Given the description of an element on the screen output the (x, y) to click on. 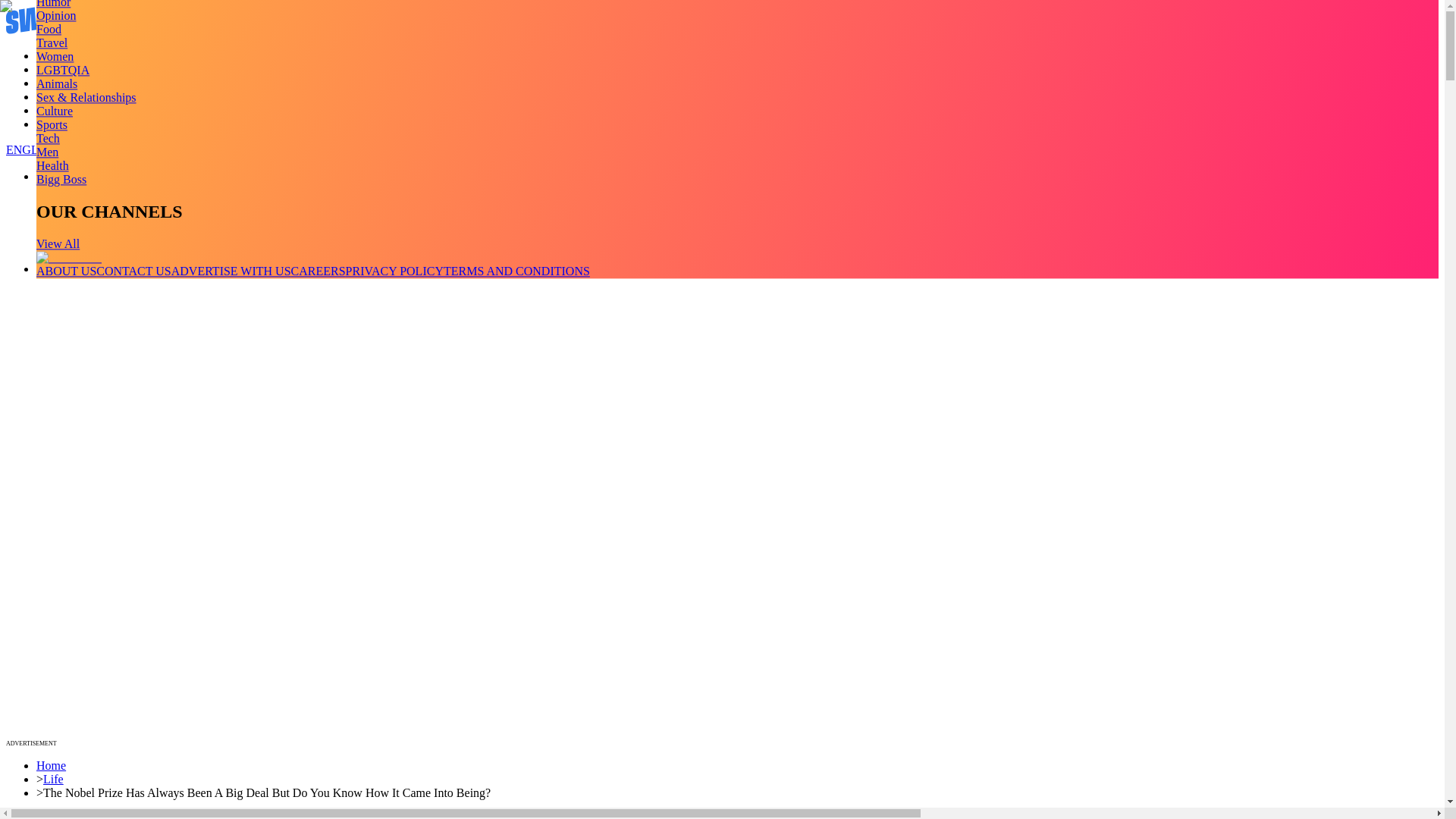
Videos (52, 69)
Men (47, 151)
Tech (47, 137)
Animals (56, 83)
Sports (51, 124)
Health (52, 164)
Women (55, 56)
CONTACT US (133, 270)
Trending (58, 55)
LGBTQIA (62, 69)
